Given the description of an element on the screen output the (x, y) to click on. 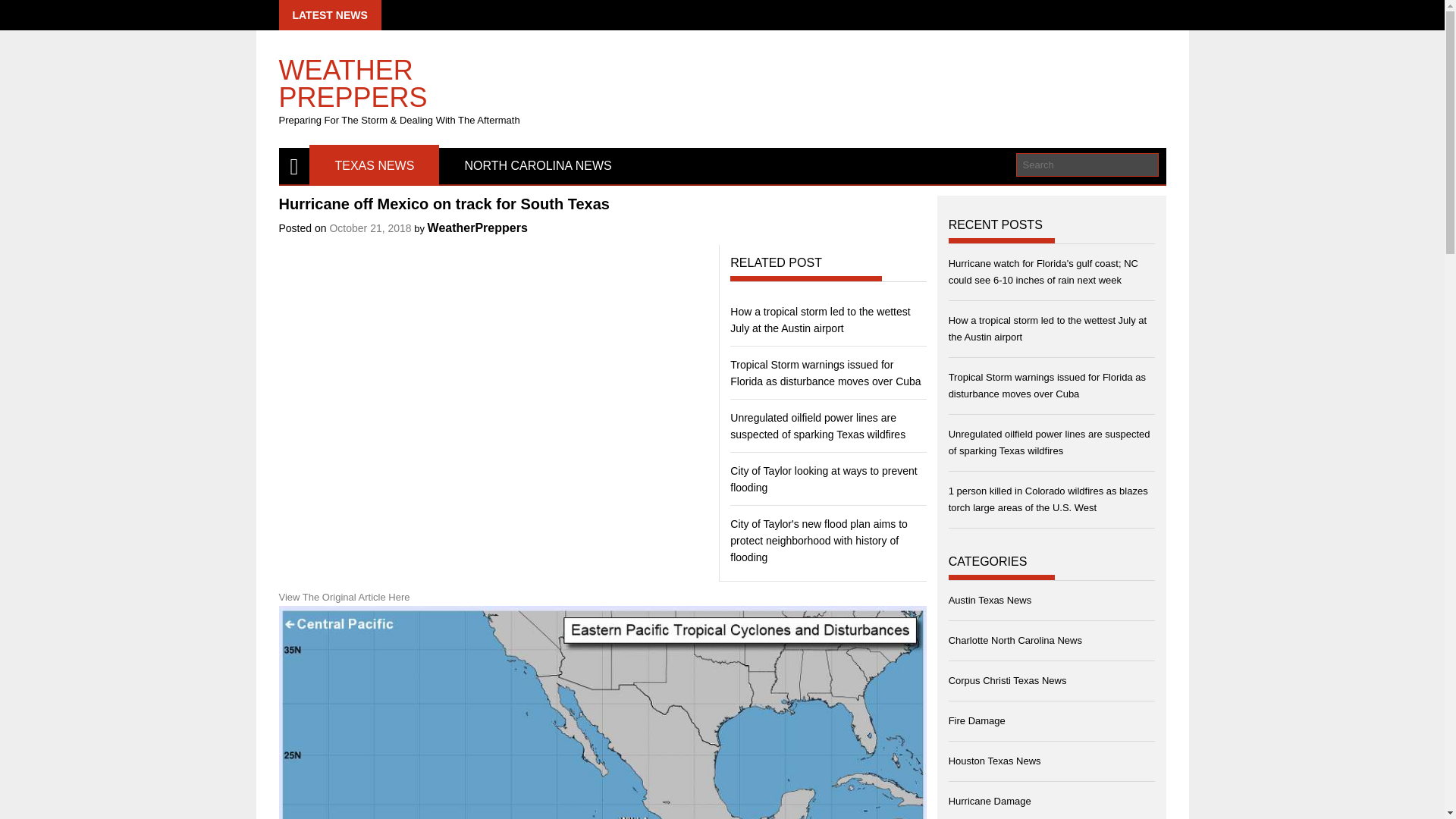
WEATHER PREPPERS (420, 76)
Austin Texas News (990, 600)
Charlotte North Carolina News (1015, 639)
October 21, 2018 (369, 227)
NORTH CAROLINA NEWS (537, 166)
TEXAS NEWS (373, 166)
Original Article Here (365, 596)
